Given the description of an element on the screen output the (x, y) to click on. 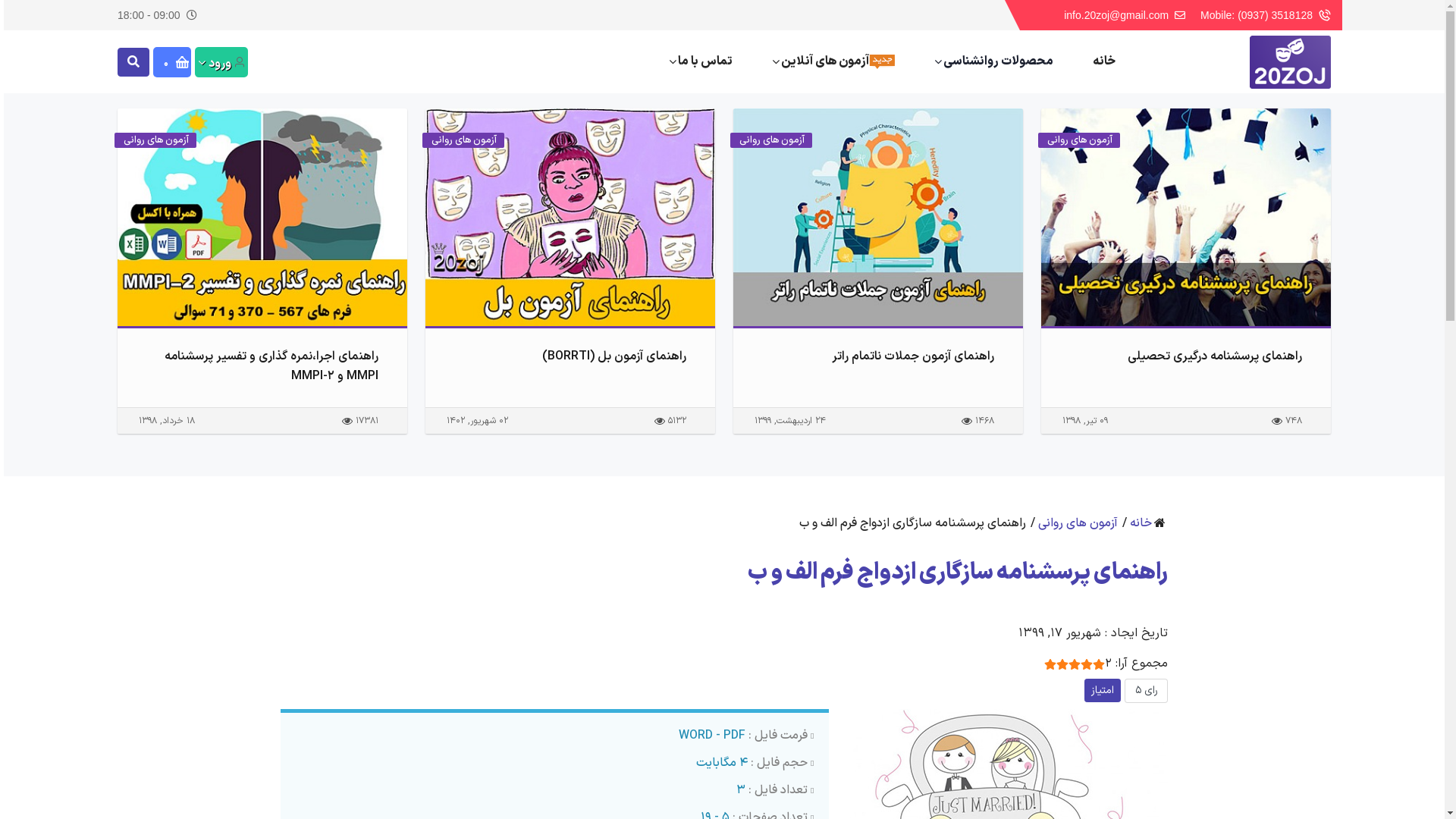
Mobile: (0937) 3518128 Element type: text (1256, 15)
info.20zoj@gmail.com Element type: text (1115, 15)
